Given the description of an element on the screen output the (x, y) to click on. 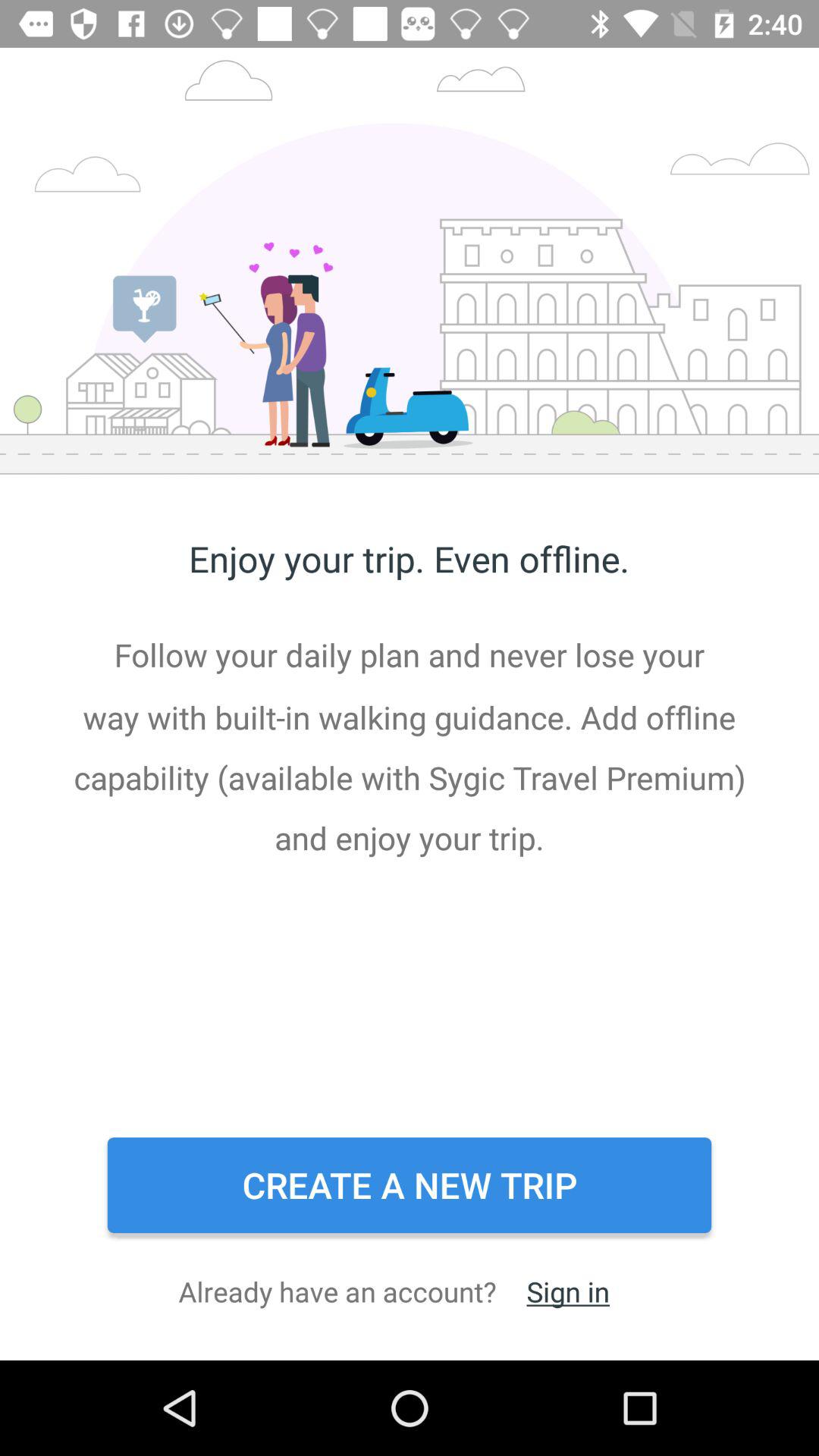
turn off icon at the bottom right corner (567, 1291)
